Given the description of an element on the screen output the (x, y) to click on. 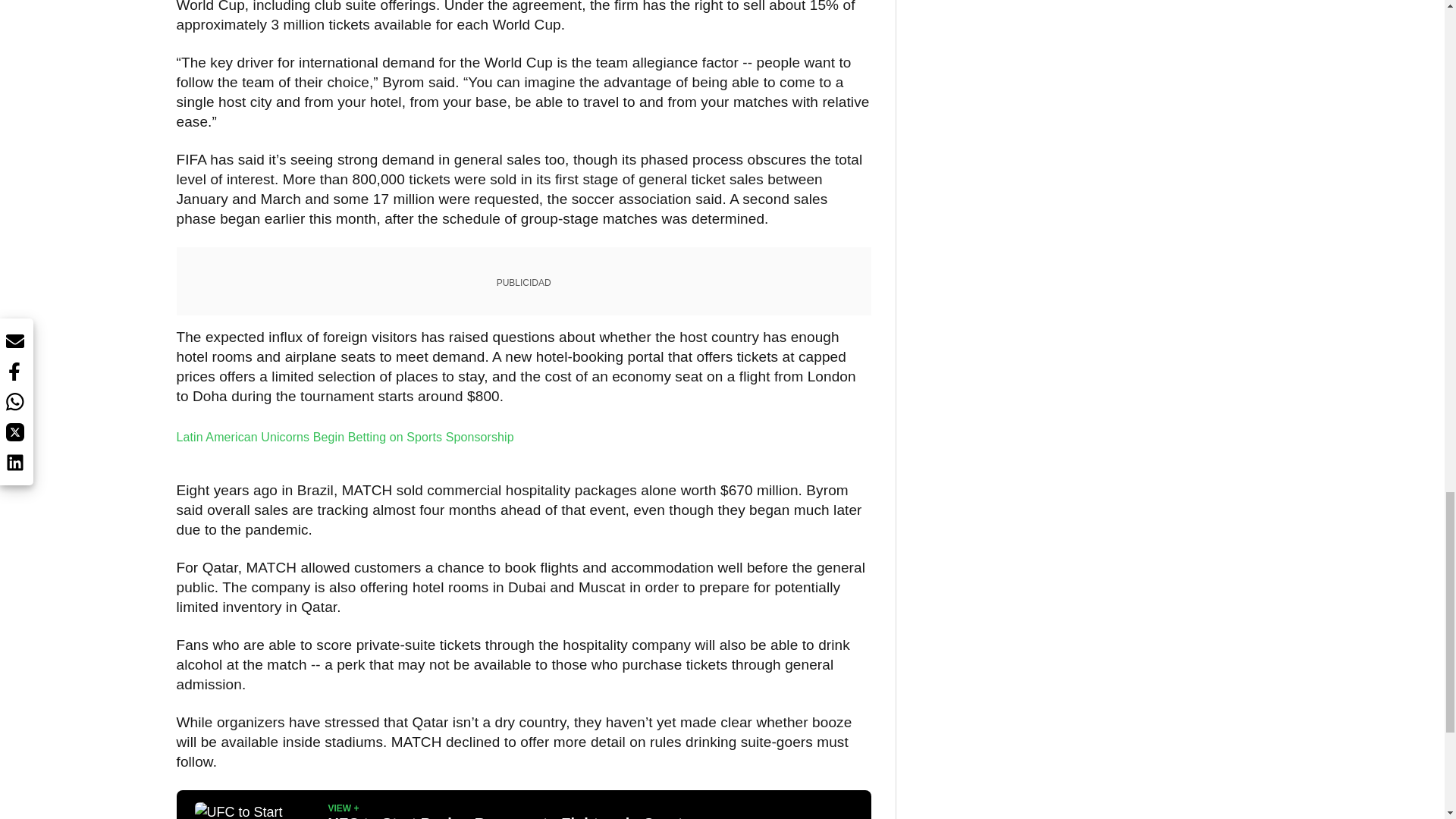
UFC to Start Paying Bonuses to Fighters in Cryptocurrency (254, 810)
